Given the description of an element on the screen output the (x, y) to click on. 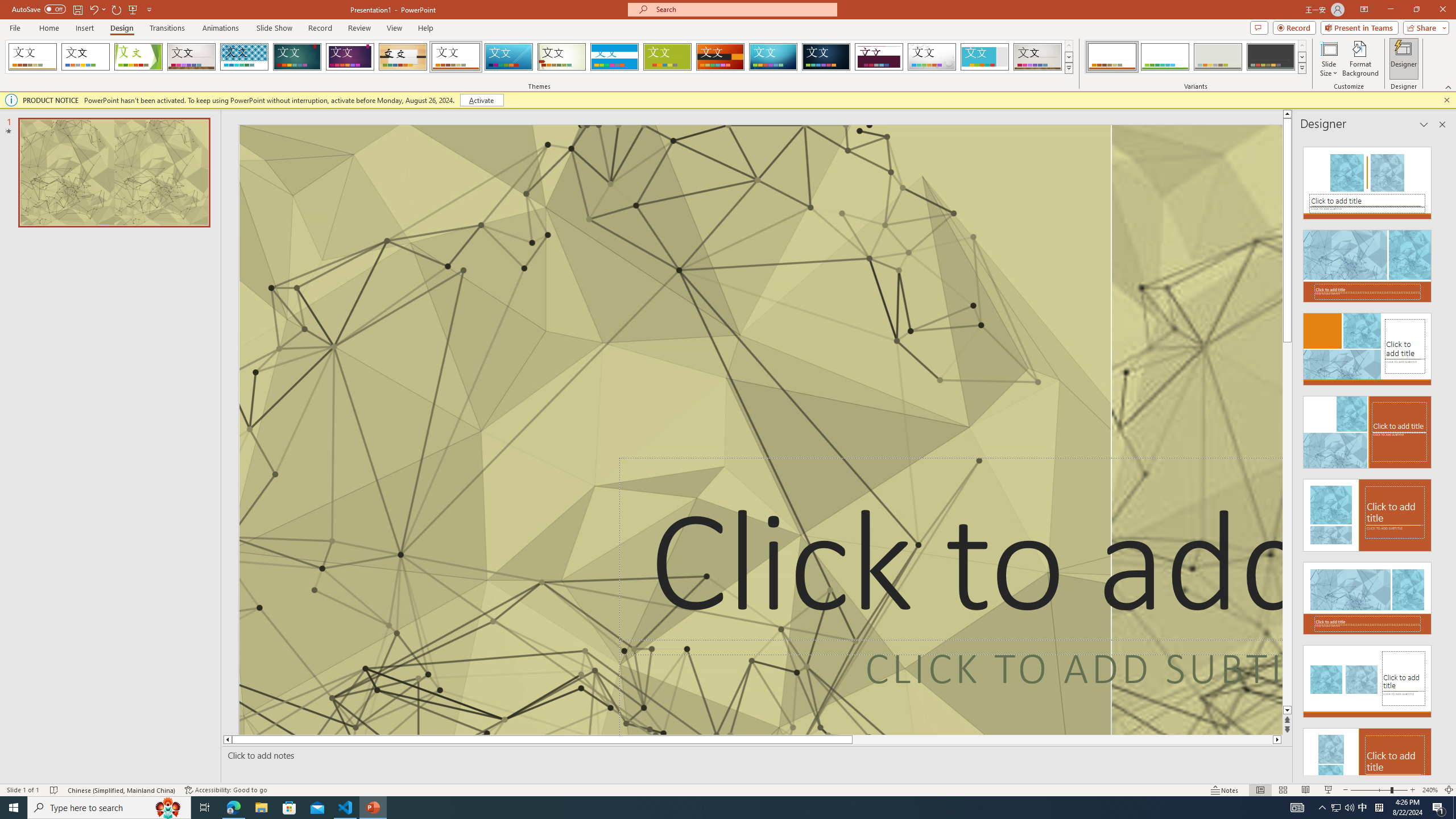
Retrospect Variant 1 (1112, 56)
Retrospect Variant 4 (1270, 56)
Retrospect Variant 2 (1164, 56)
AutomationID: SlideThemesGallery (539, 56)
Recommended Design: Design Idea (1366, 179)
Themes (1068, 67)
Slice (508, 56)
